Given the description of an element on the screen output the (x, y) to click on. 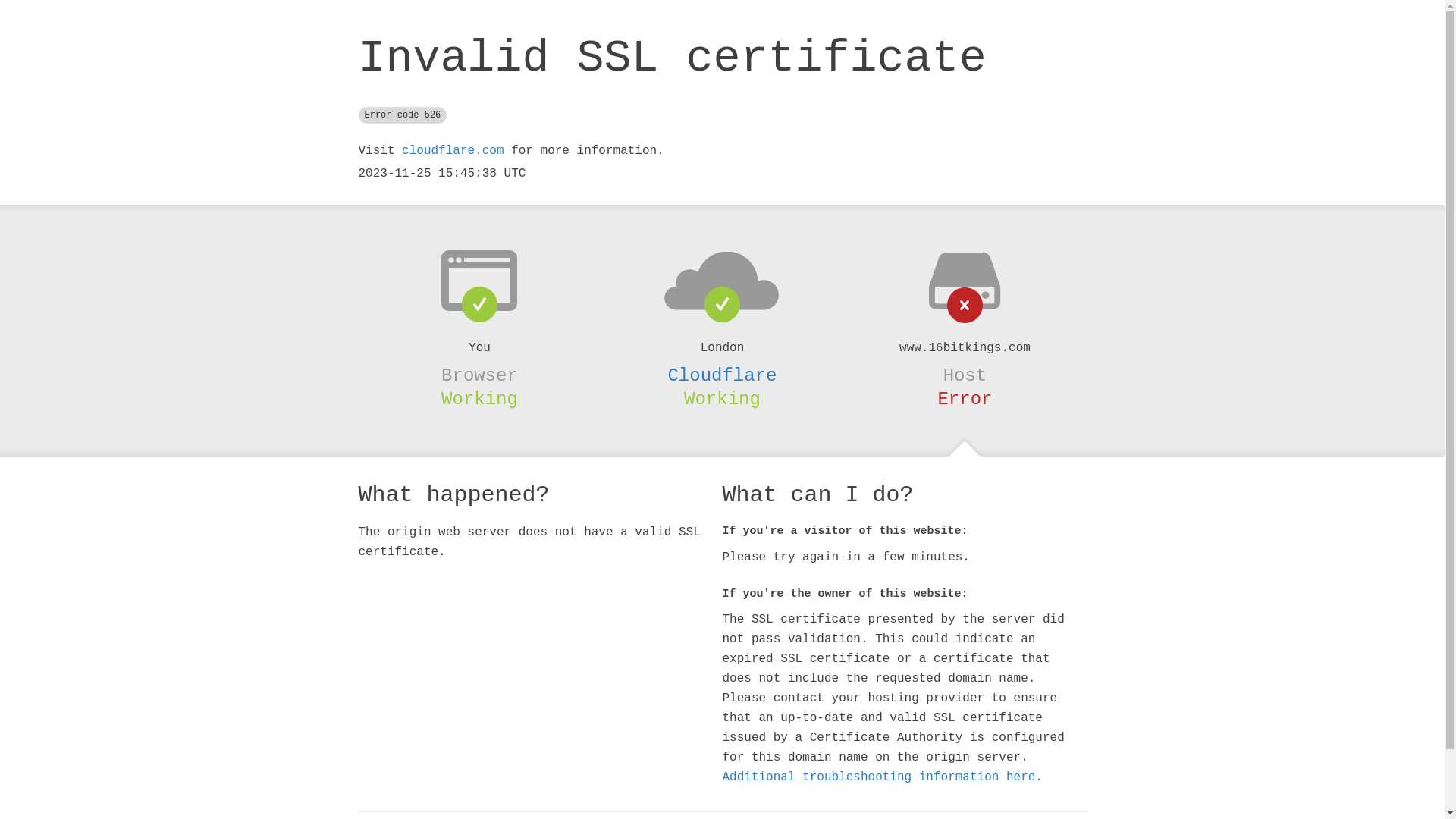
Additional troubleshooting information here. Element type: text (881, 777)
cloudflare.com Element type: text (452, 150)
Cloudflare Element type: text (721, 375)
